Given the description of an element on the screen output the (x, y) to click on. 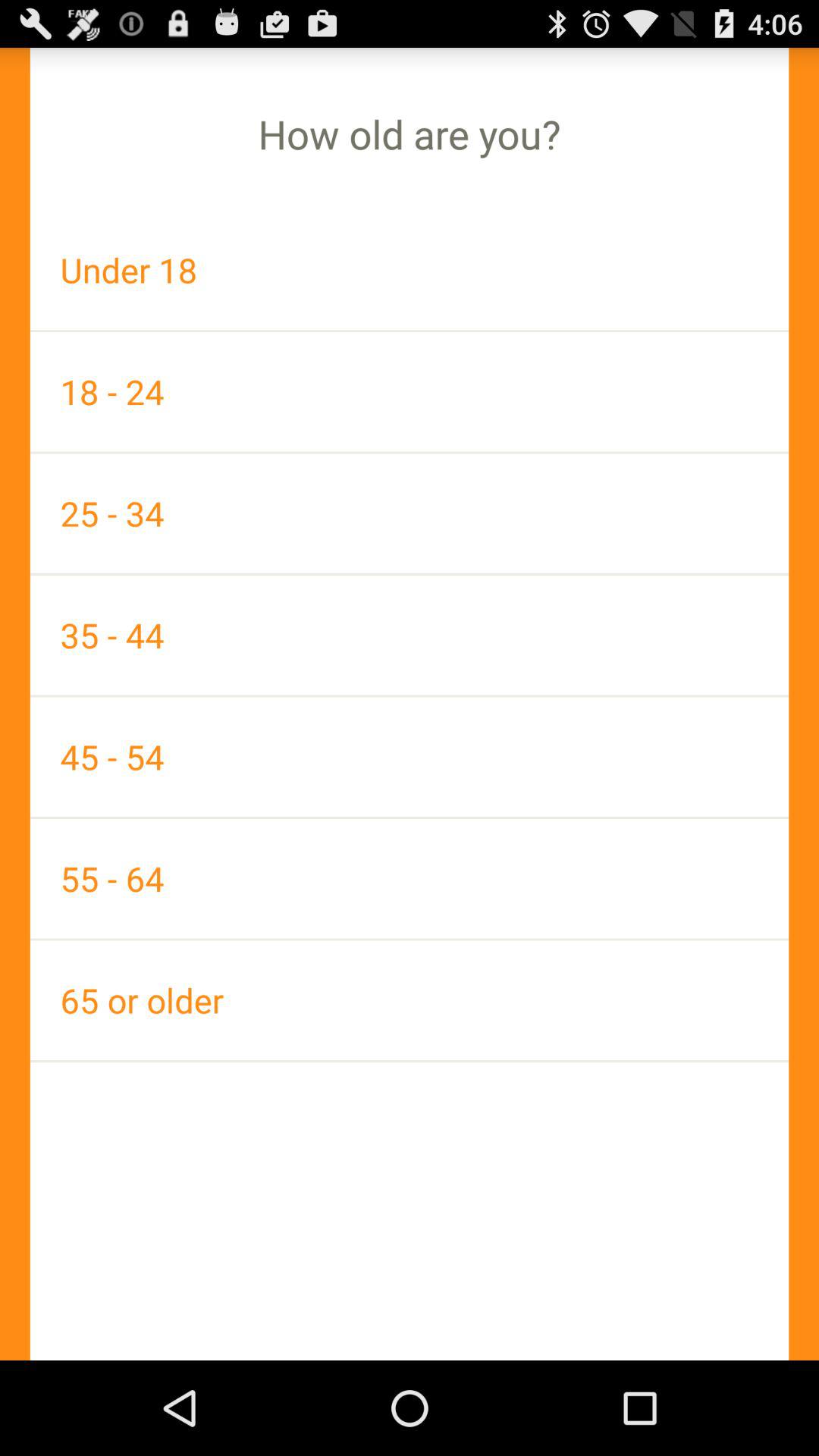
open icon at the bottom (409, 1000)
